Given the description of an element on the screen output the (x, y) to click on. 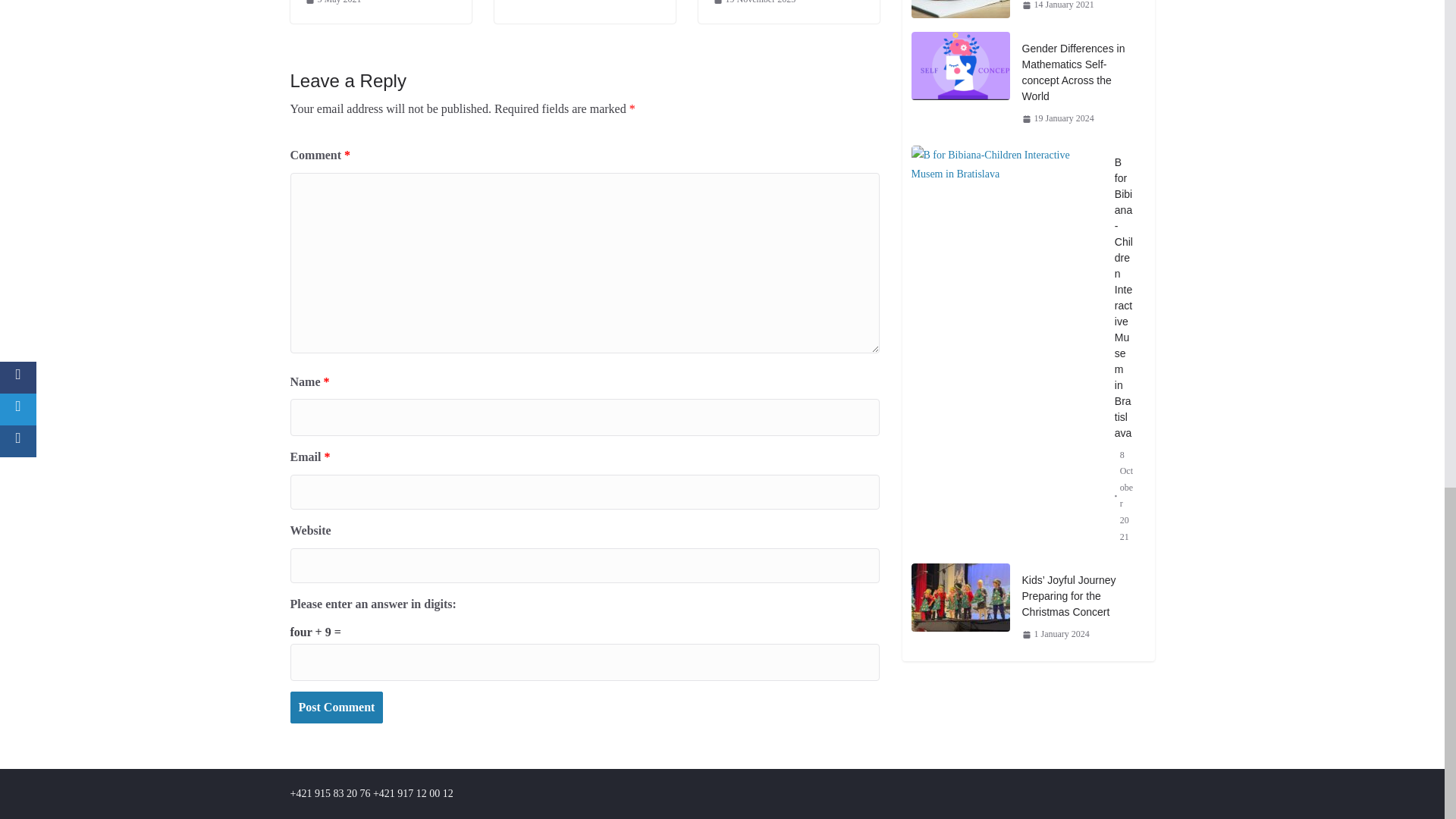
Post Comment (335, 707)
5 May 2021 (332, 4)
19 November 2023 (753, 4)
09:16 (332, 4)
